Given the description of an element on the screen output the (x, y) to click on. 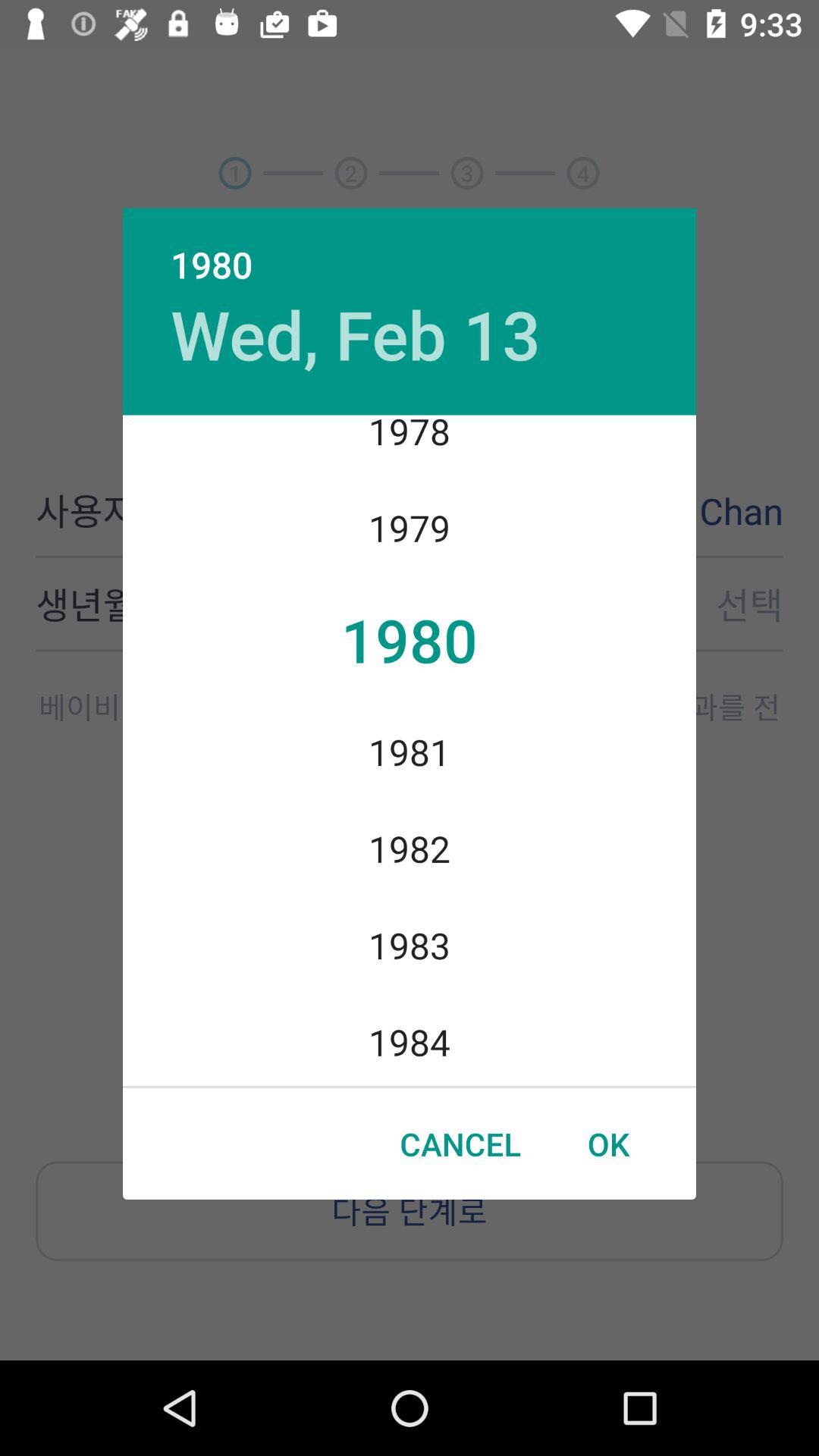
open the item below 1980 item (355, 333)
